Given the description of an element on the screen output the (x, y) to click on. 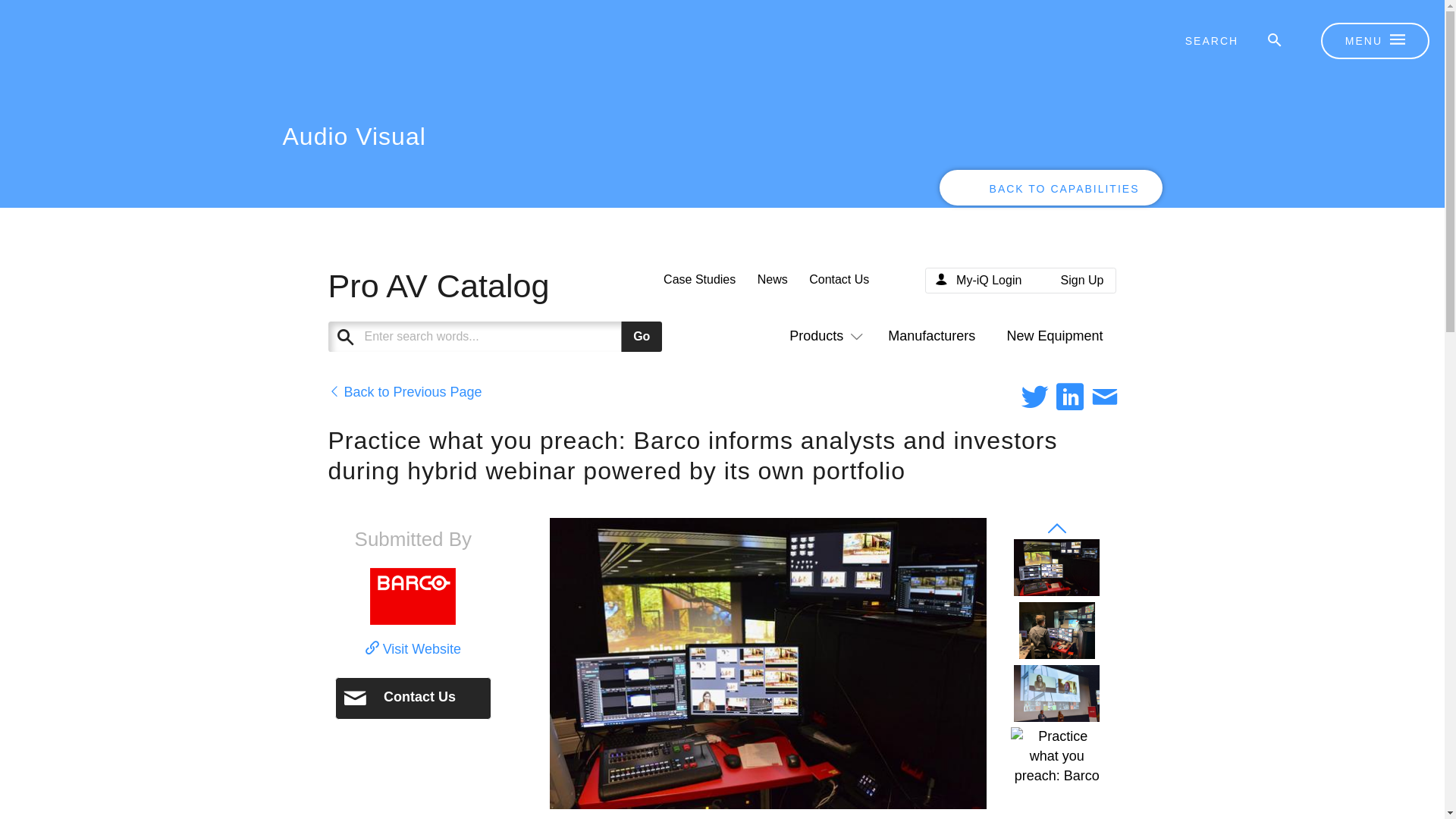
Image 1 of 4 (1056, 567)
Image 2 of 4 (1056, 630)
Go (641, 336)
Image 3 of 4 (1056, 692)
Enter search words... (531, 336)
Search for: (1222, 40)
Go (641, 336)
Image 4 of 4 (1056, 755)
